Given the description of an element on the screen output the (x, y) to click on. 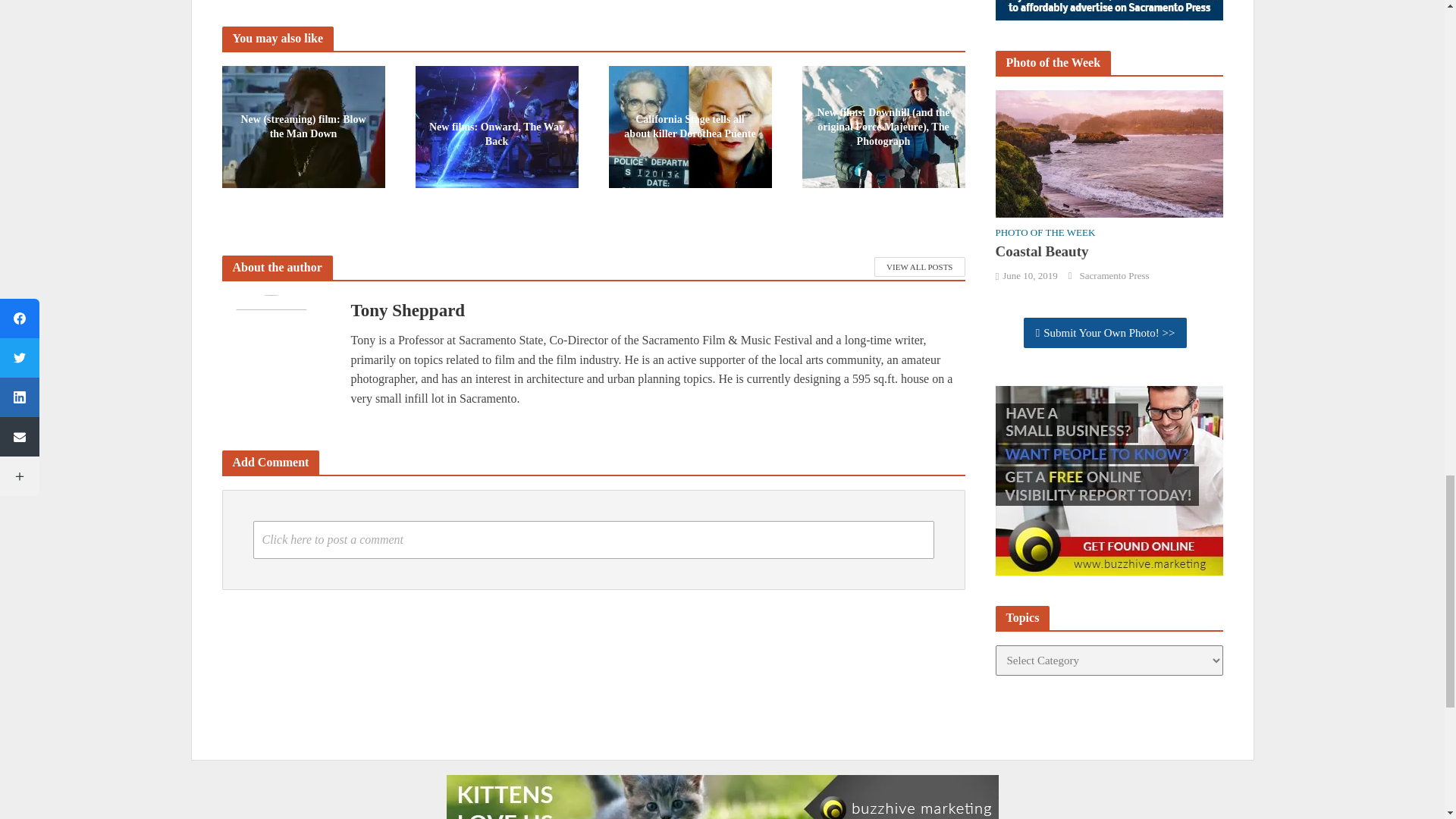
California Stage tells all about killer Dorothea Puente (689, 124)
New films: Onward, The Way Back (496, 124)
Coastal Beauty (1108, 152)
